Given the description of an element on the screen output the (x, y) to click on. 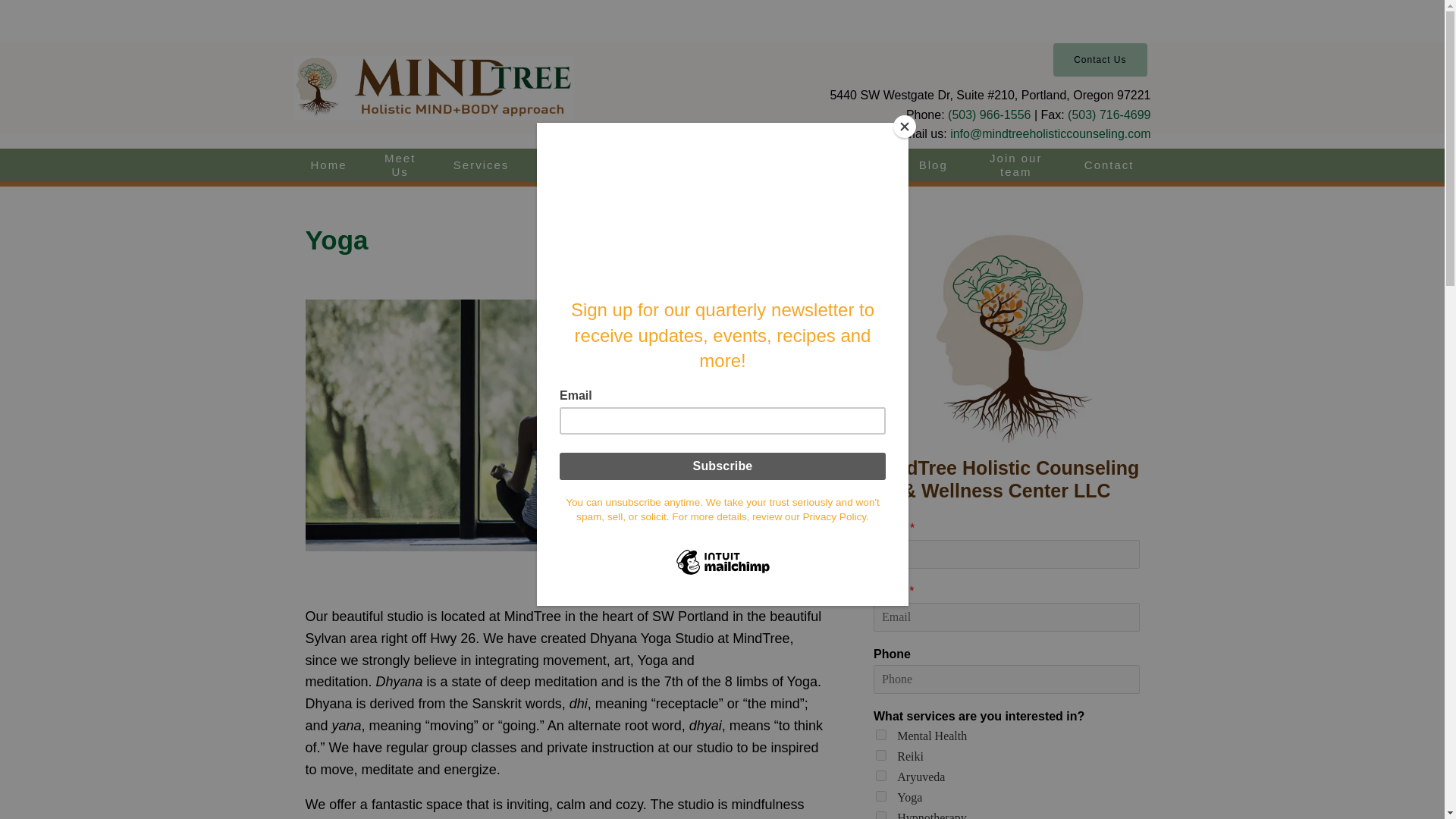
Get Started (571, 164)
Hypnotherapy (881, 815)
Services (480, 164)
Home (329, 164)
Reiki (881, 755)
Mental Health (881, 734)
Aryuveda (881, 775)
Meet Us (400, 164)
Yoga (881, 796)
